Given the description of an element on the screen output the (x, y) to click on. 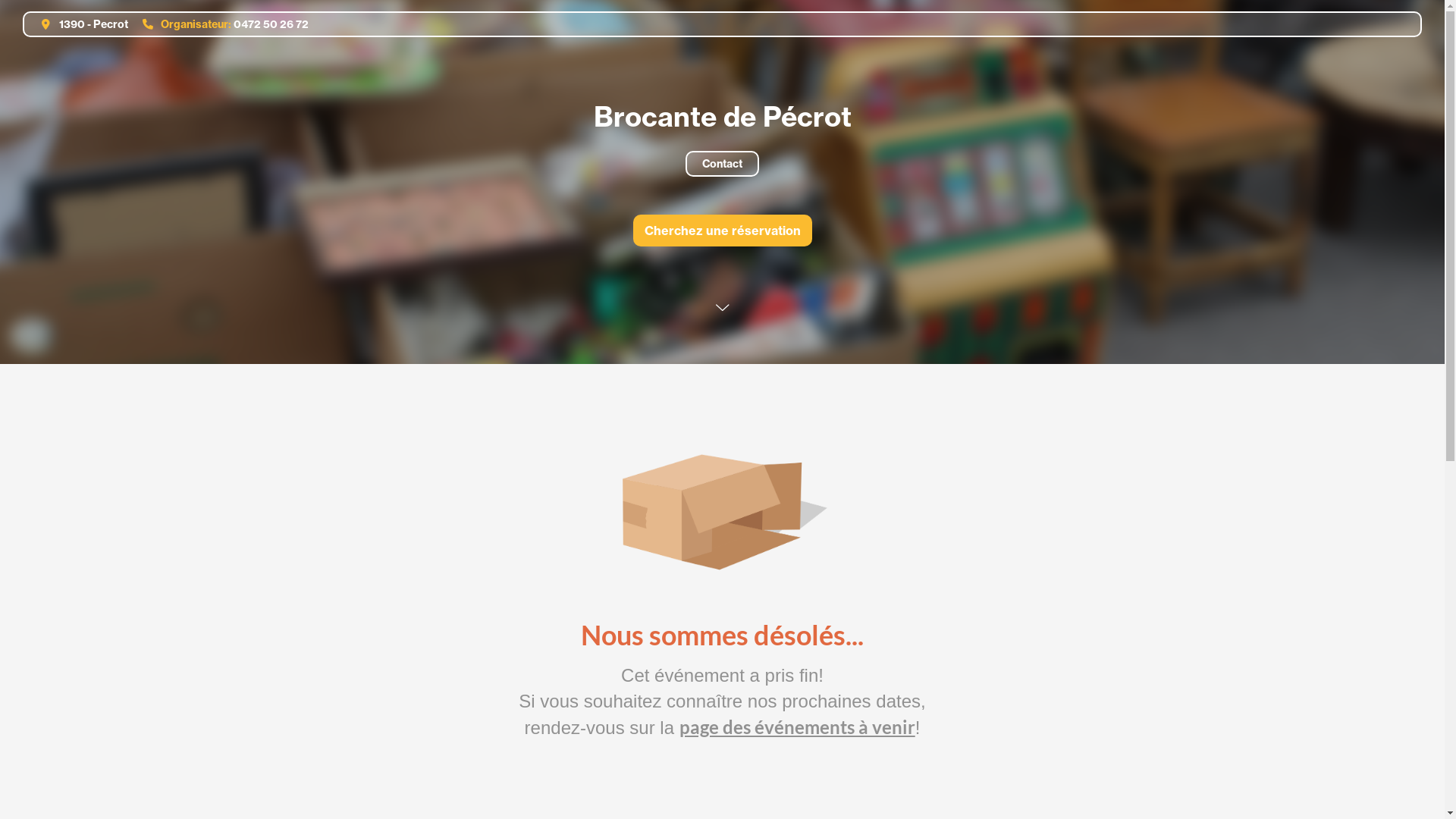
Contact Element type: text (722, 163)
1390 - Pecrot Element type: text (79, 24)
Organisateur: 0472 50 26 72 Element type: text (219, 24)
